Given the description of an element on the screen output the (x, y) to click on. 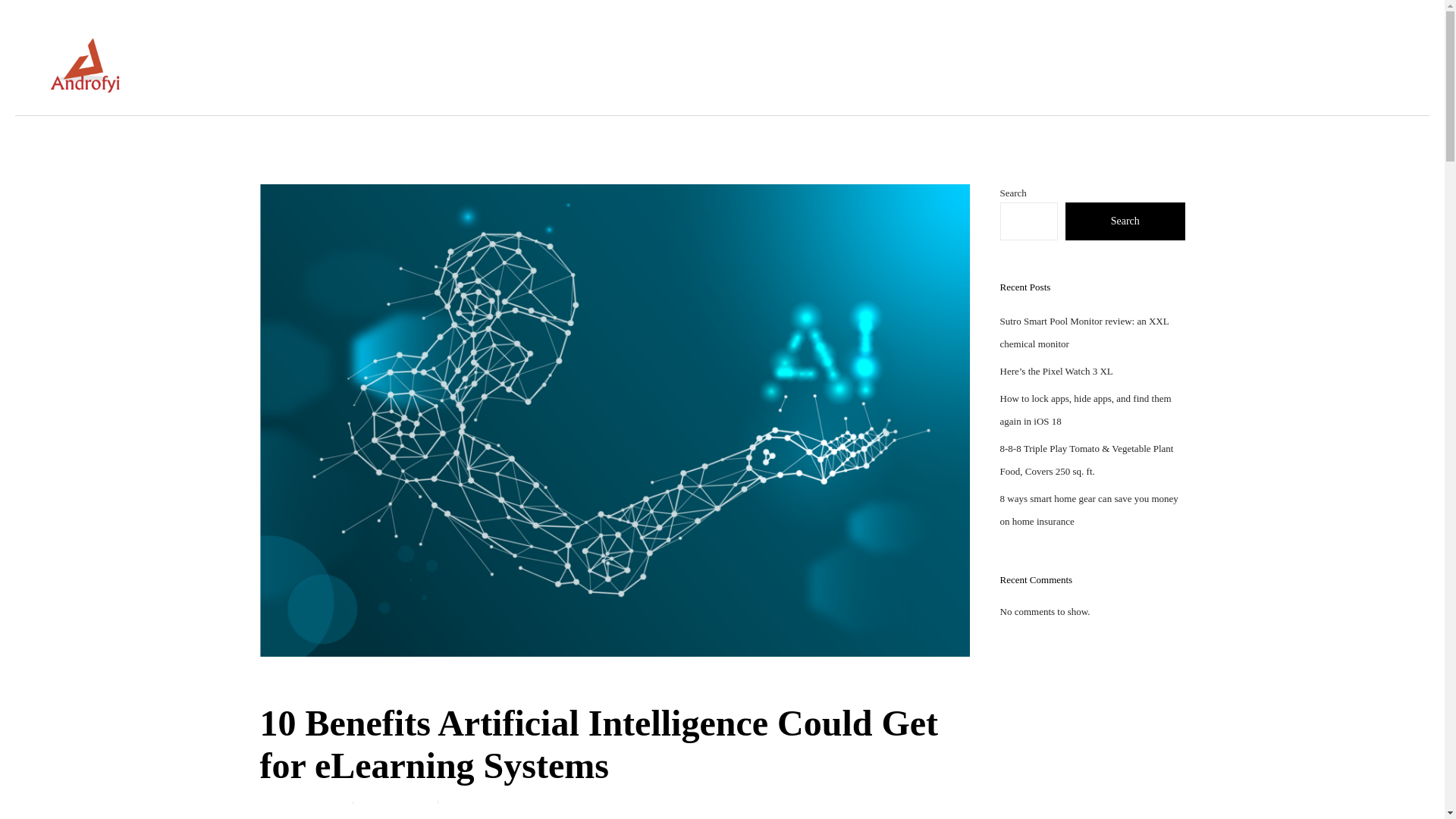
Digital Marketing (562, 808)
How to lock apps, hide apps, and find them again in iOS 18 (1084, 409)
Search (1125, 221)
Sutro Smart Pool Monitor review: an XXL chemical monitor (1083, 332)
8 ways smart home gear can save you money on home insurance (1087, 510)
